Given the description of an element on the screen output the (x, y) to click on. 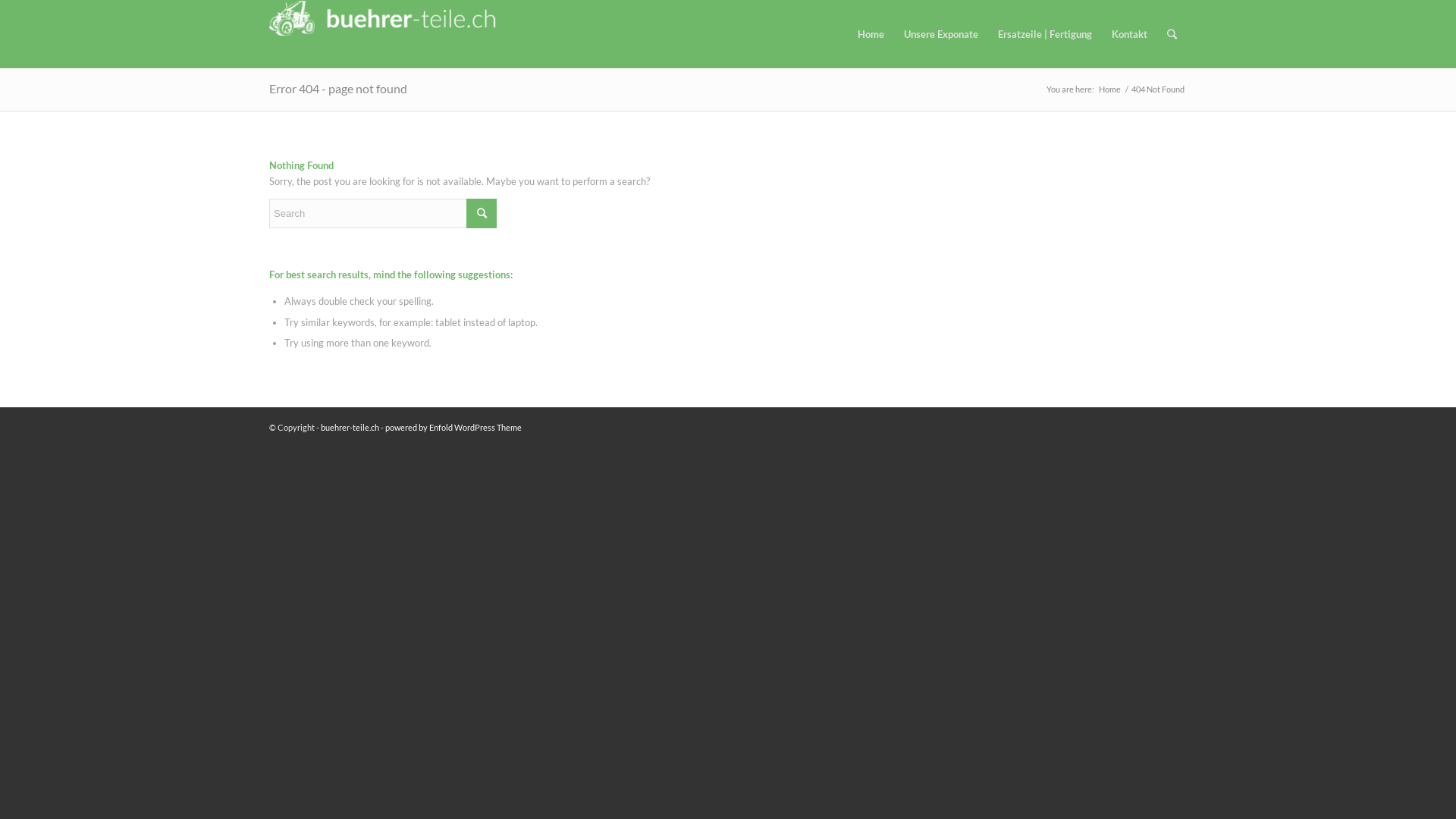
Home Element type: text (1109, 88)
Home Element type: text (870, 33)
Ersatzeile | Fertigung Element type: text (1044, 33)
buehrer-teile.ch Element type: text (349, 427)
Unsere Exponate Element type: text (941, 33)
Kontakt Element type: text (1129, 33)
powered by Enfold WordPress Theme Element type: text (453, 427)
